Given the description of an element on the screen output the (x, y) to click on. 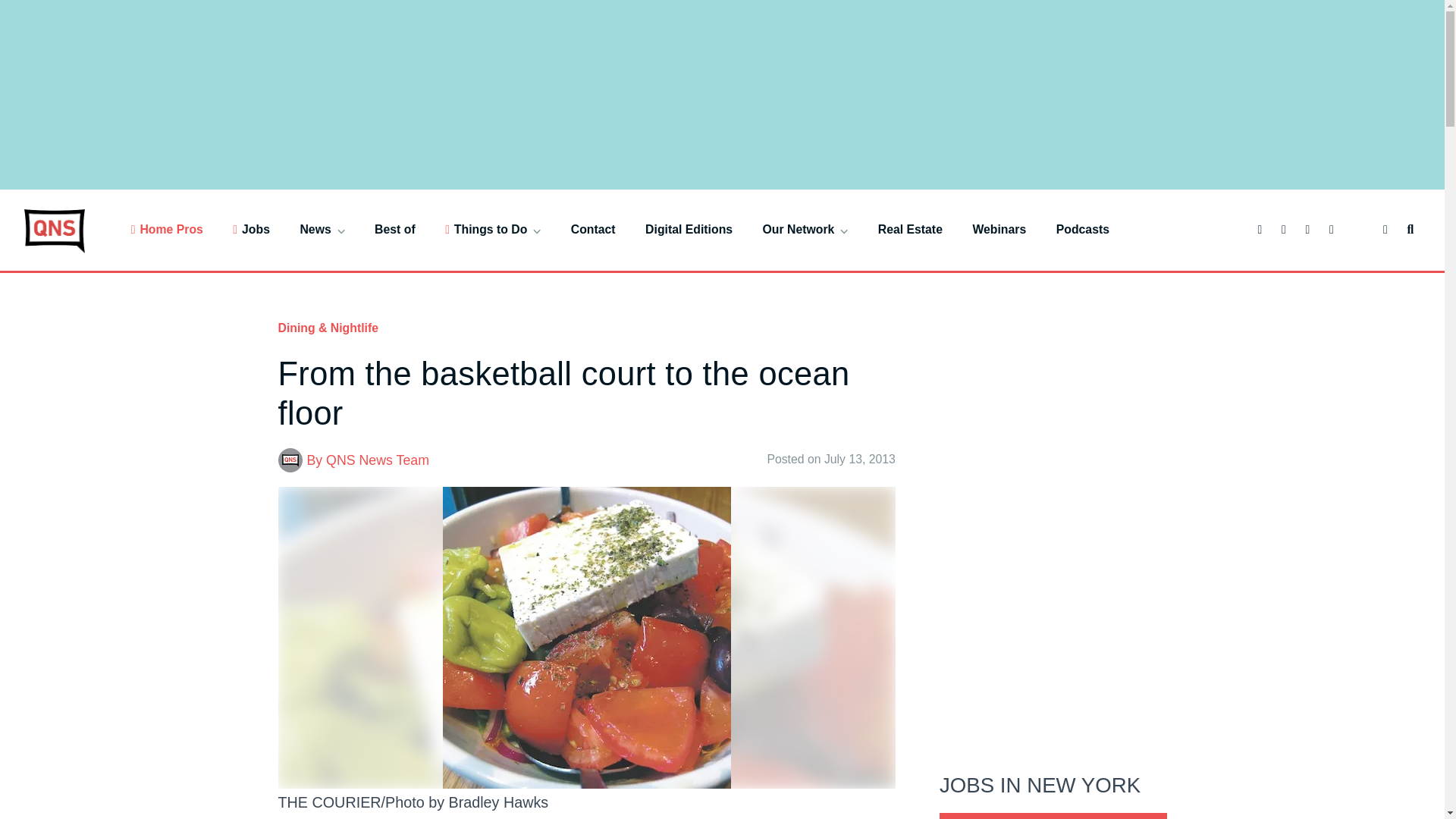
Posts by QNS News Team (377, 459)
Things to Do (492, 228)
Home Pros (167, 228)
Jobs (250, 228)
Podcasts (1083, 228)
Real Estate (909, 228)
Contact (592, 228)
Webinars (999, 228)
Best of (394, 228)
Our Network (805, 228)
Digital Editions (688, 228)
News (321, 228)
